Given the description of an element on the screen output the (x, y) to click on. 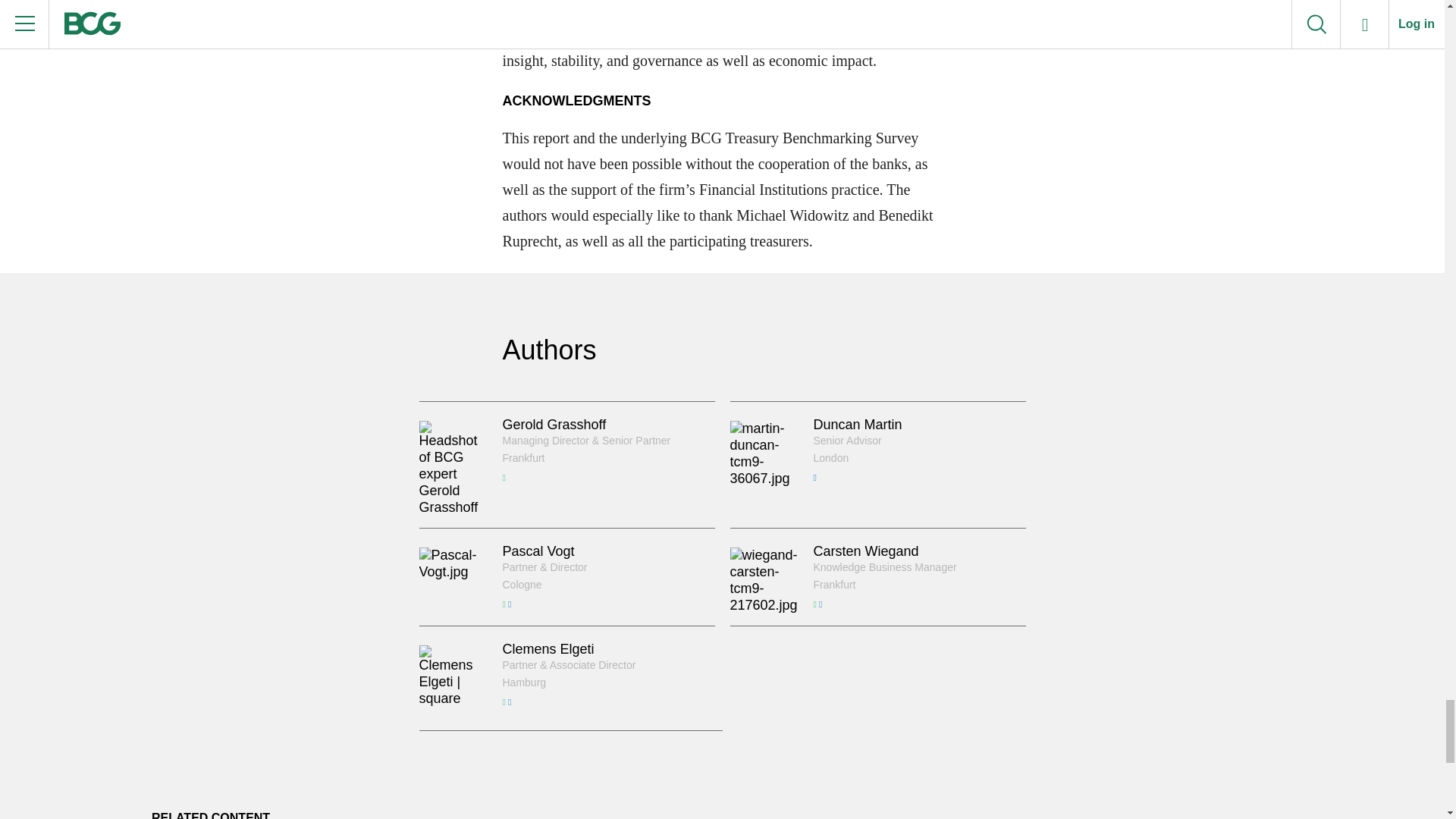
Gerold Grasshoff (553, 424)
